Given the description of an element on the screen output the (x, y) to click on. 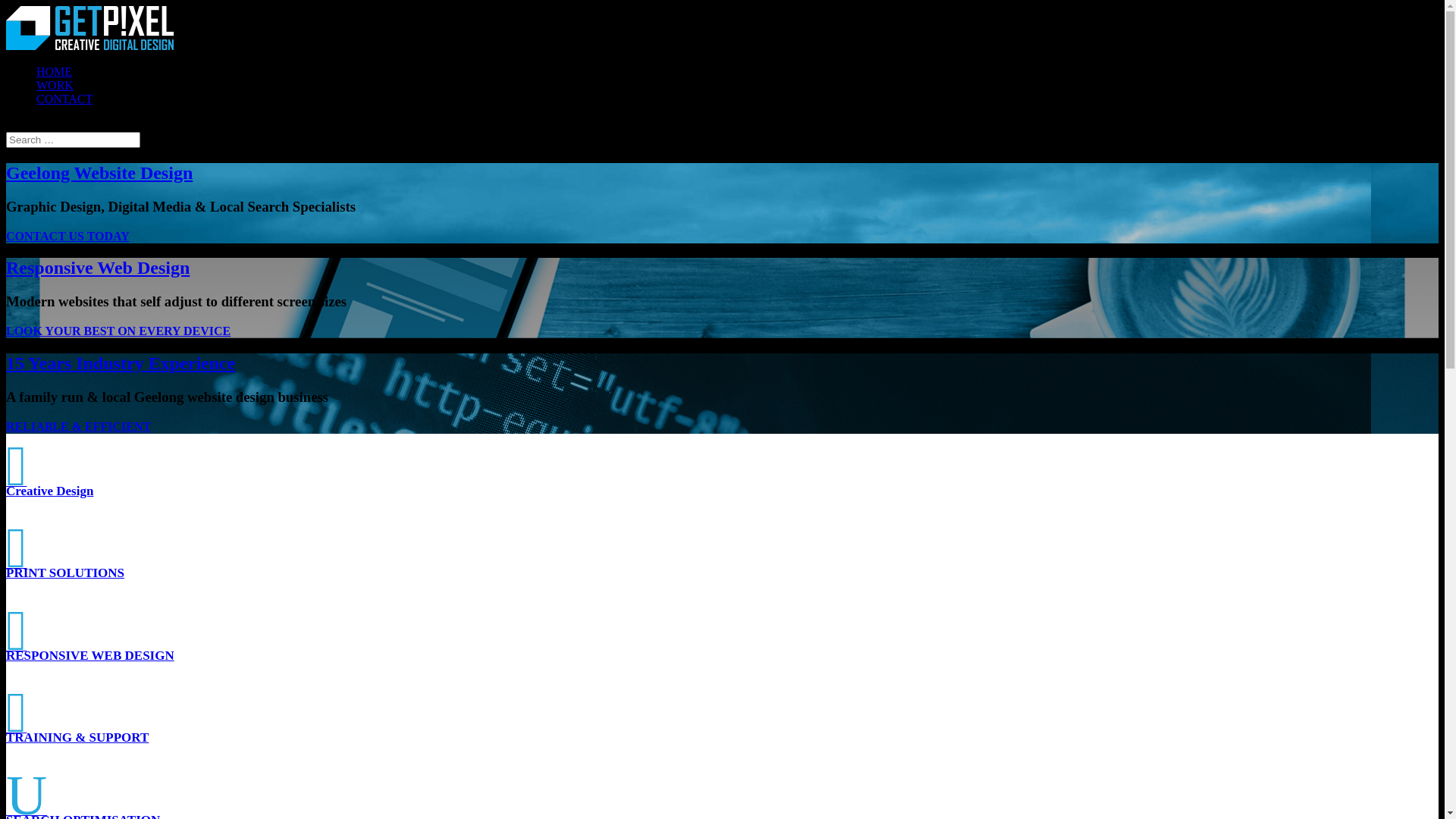
RESPONSIVE WEB DESIGN Element type: text (90, 655)
PRINT SOLUTIONS Element type: text (65, 572)
Responsive Web Design Element type: text (97, 267)
CONTACT Element type: text (64, 98)
HOME Element type: text (54, 71)
U Element type: text (26, 809)
Creative Design Element type: text (49, 490)
TRAINING & SUPPORT Element type: text (77, 737)
LOOK YOUR BEST ON EVERY DEVICE Element type: text (118, 330)
Geelong Website Design Element type: text (99, 172)
15 Years Industry Experience Element type: text (120, 363)
CONTACT US TODAY Element type: text (67, 235)
Search for: Element type: hover (73, 139)
RELIABLE & EFFICIENT Element type: text (78, 426)
WORK Element type: text (54, 84)
